Given the description of an element on the screen output the (x, y) to click on. 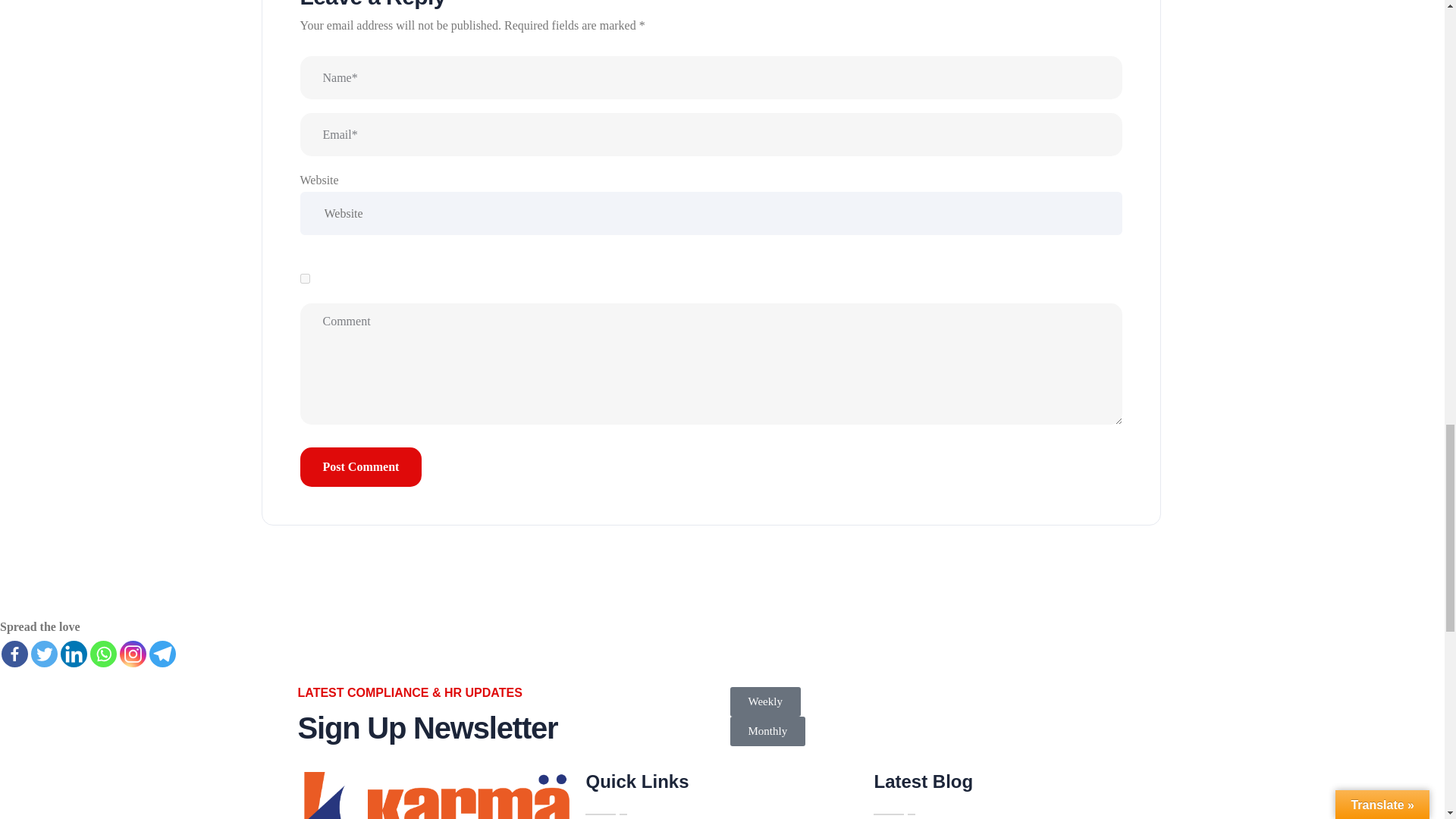
Instagram (133, 653)
Linkedin (74, 653)
Telegram (162, 653)
yes (304, 278)
Post Comment (360, 466)
Facebook (14, 653)
Whatsapp (103, 653)
Twitter (44, 653)
